Given the description of an element on the screen output the (x, y) to click on. 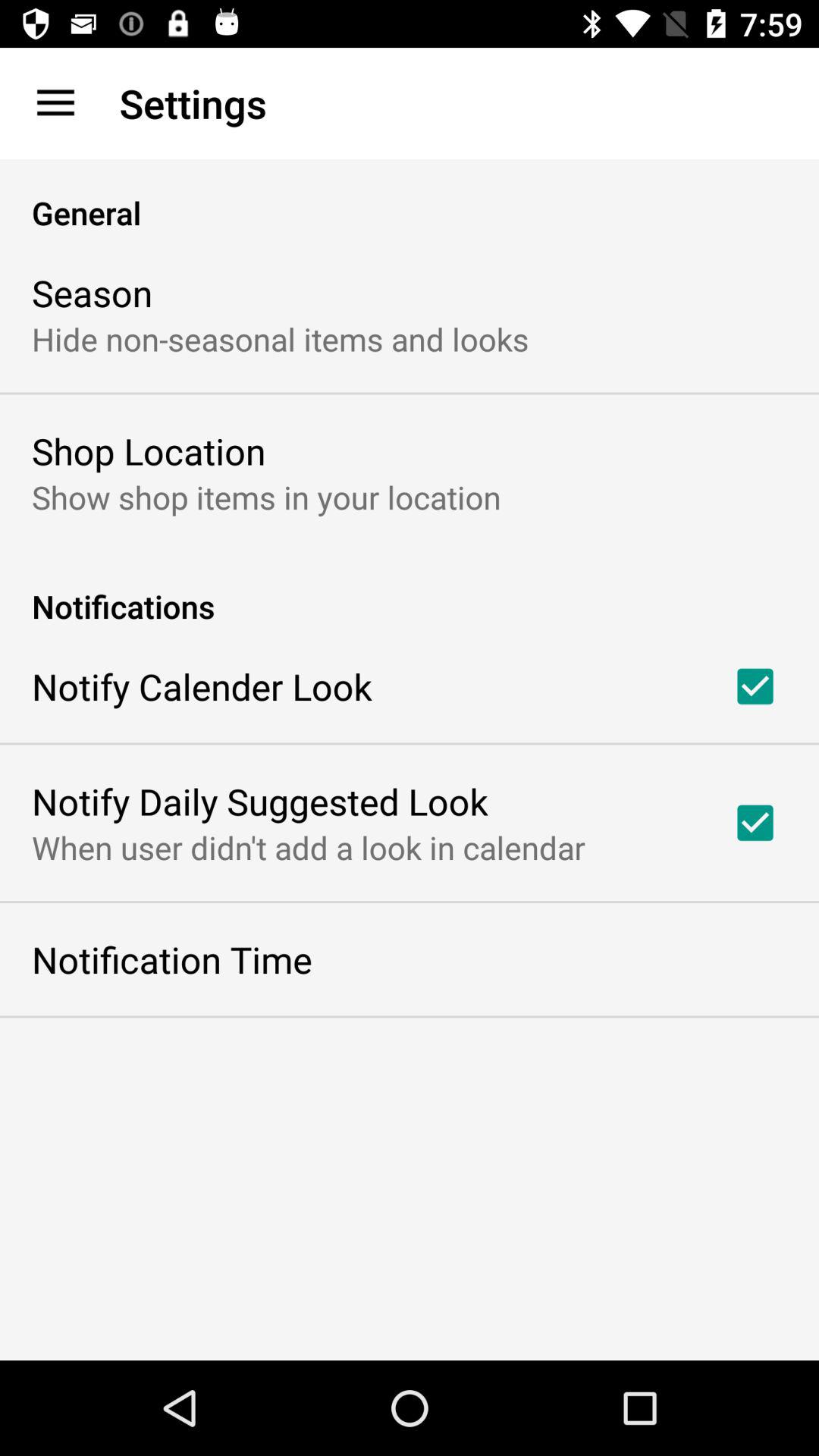
jump to notify calender look icon (201, 686)
